Given the description of an element on the screen output the (x, y) to click on. 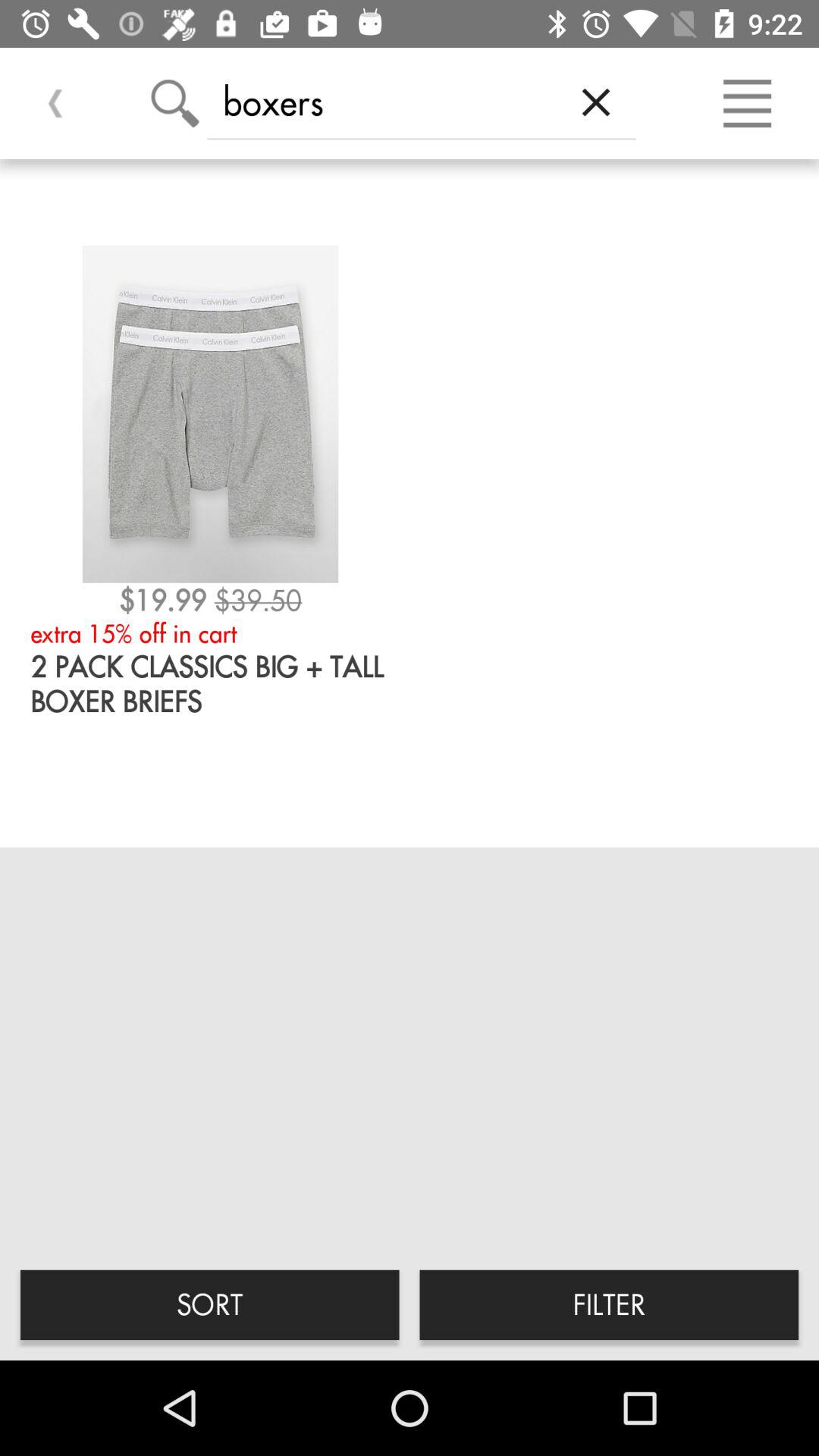
click icon to the left of the filter item (209, 1304)
